Given the description of an element on the screen output the (x, y) to click on. 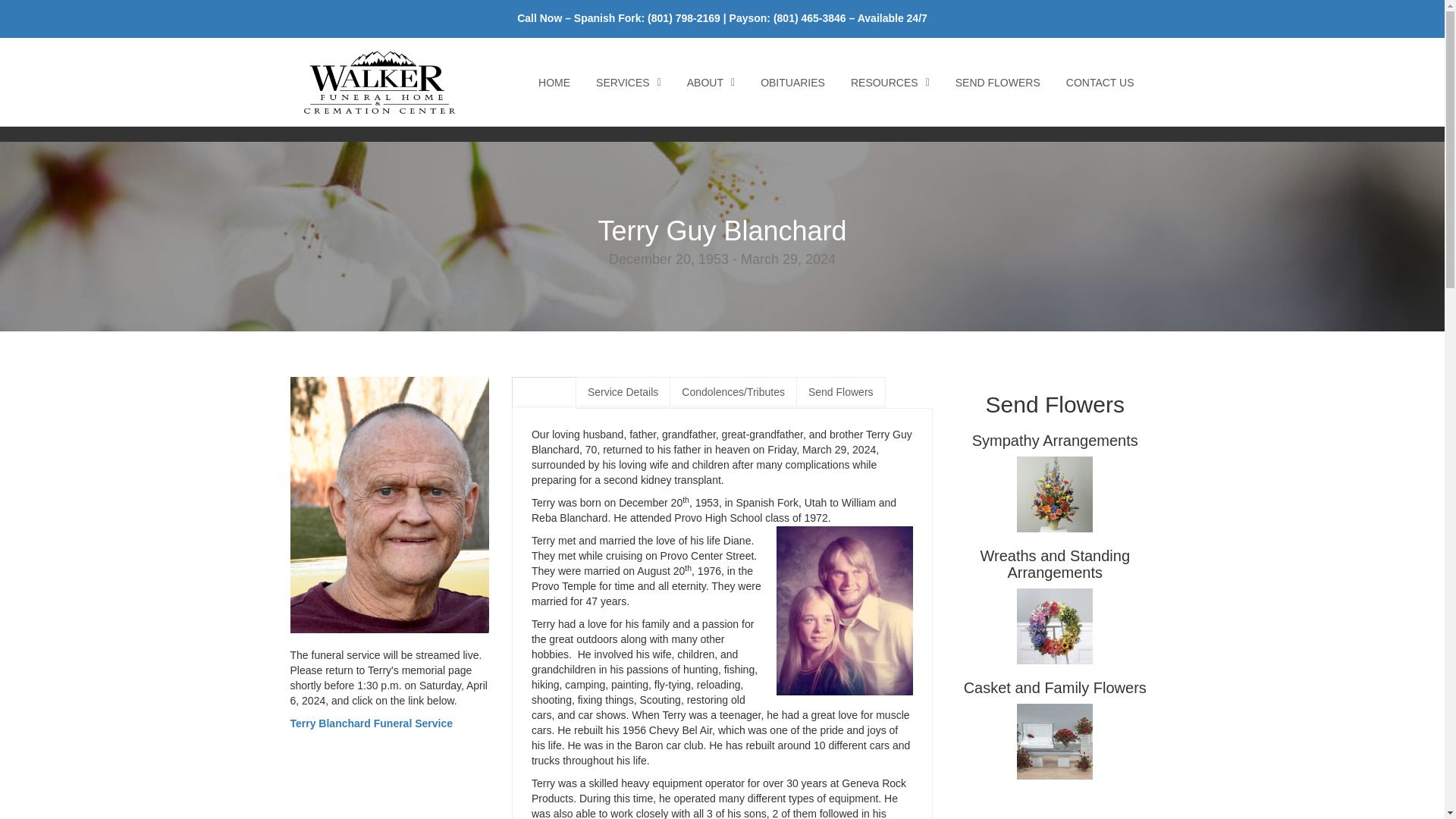
RESOURCES (890, 82)
ABOUT (711, 82)
SEND FLOWERS (997, 82)
CONTACT US (1099, 82)
OBITUARIES (793, 82)
HOME (554, 82)
SERVICES (628, 82)
